Given the description of an element on the screen output the (x, y) to click on. 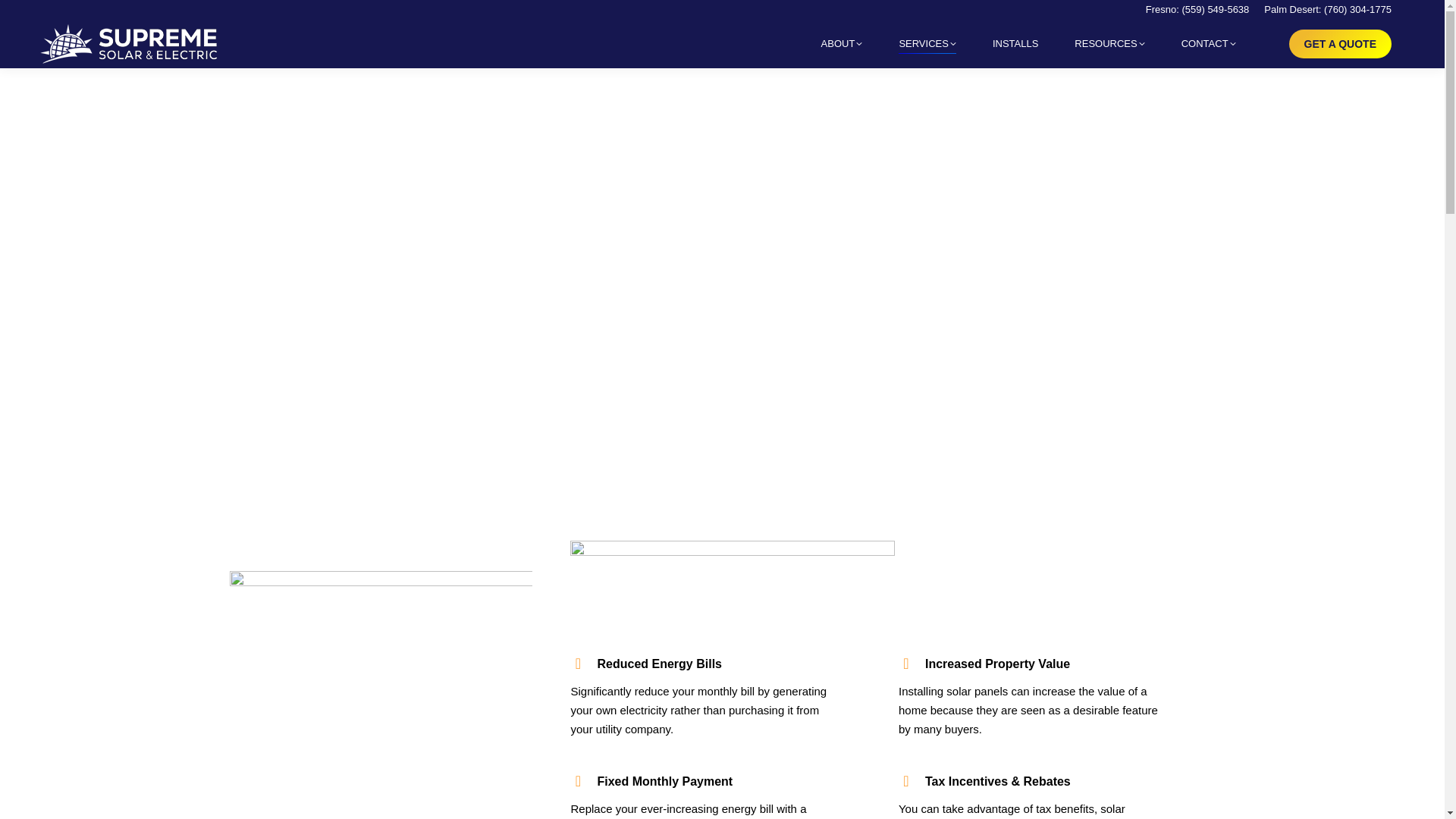
SERVICES (927, 43)
GET A QUOTE (1339, 42)
ABOUT (842, 43)
INSTALLS (1015, 43)
CONTACT (1207, 43)
RESOURCES (1109, 43)
why solar-2 (732, 572)
Supreme Solar Install-1 (380, 694)
